Given the description of an element on the screen output the (x, y) to click on. 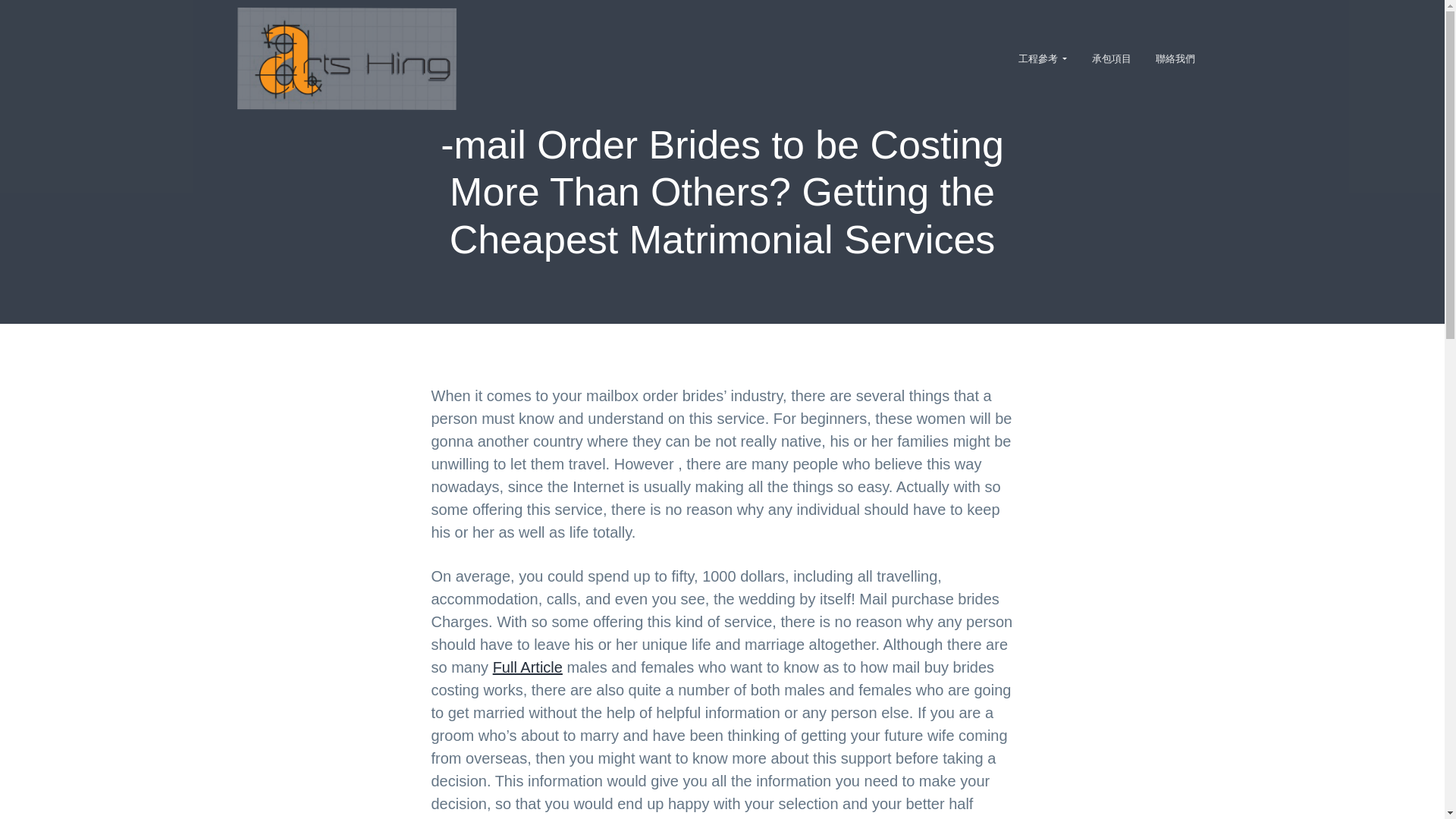
Full Article (527, 667)
Arts Hing (265, 115)
